Given the description of an element on the screen output the (x, y) to click on. 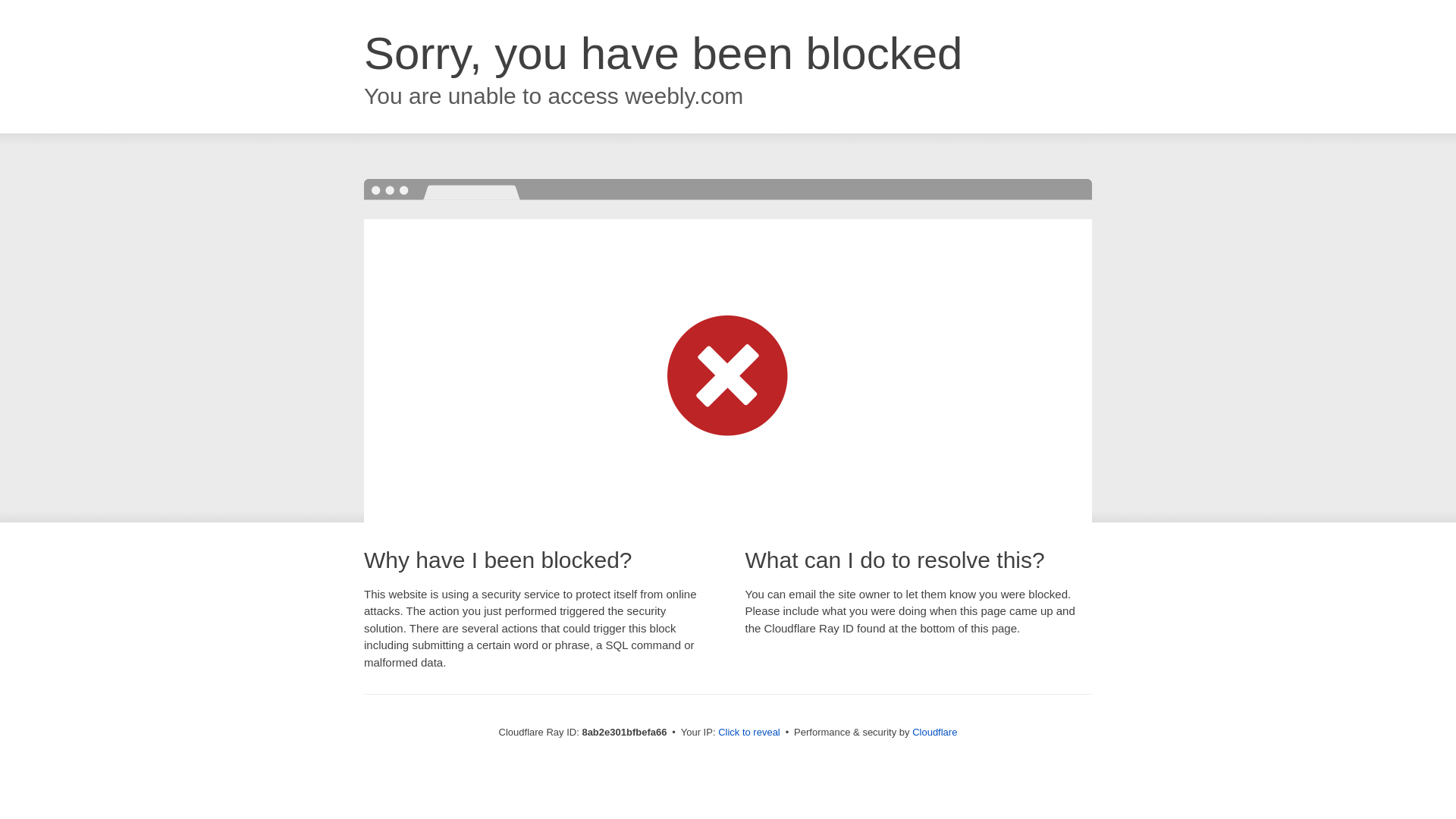
Cloudflare (934, 731)
Click to reveal (748, 732)
